Given the description of an element on the screen output the (x, y) to click on. 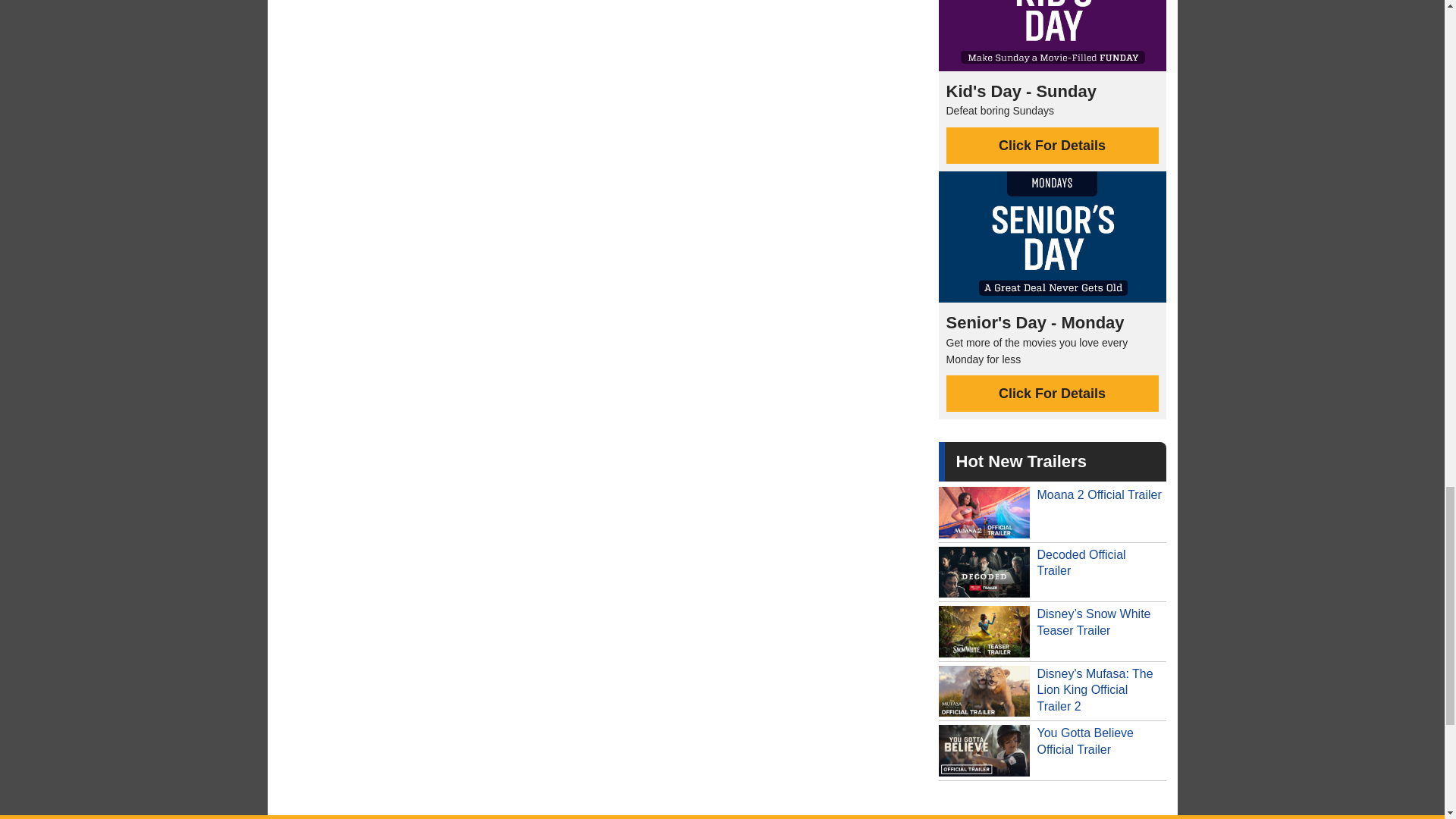
Disney's Mufasa: The Lion King Official Trailer 2 (1052, 691)
You Gotta Believe Official Trailer (1052, 750)
Click For Details (1052, 393)
Click For Details (1052, 145)
Decoded Official Trailer (1052, 571)
Moana 2 Official Trailer (1052, 512)
